Given the description of an element on the screen output the (x, y) to click on. 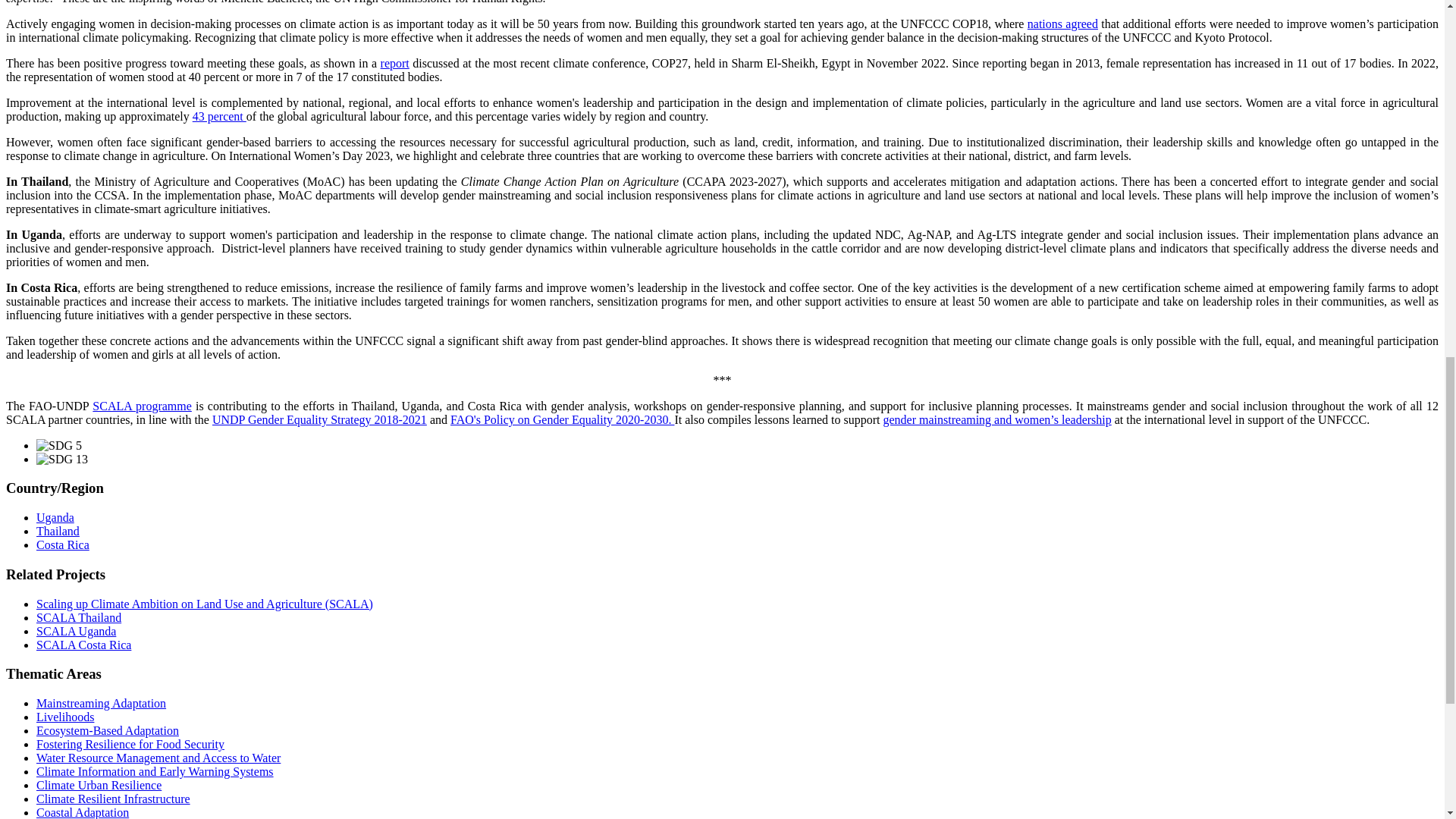
43 percent  (219, 115)
Costa Rica (62, 544)
Thailand (58, 530)
SCALA Thailand (78, 617)
UNDP Gender Equality Strategy 2018-2021 (319, 419)
nations agreed (1062, 23)
SCALA programme (142, 405)
report (394, 62)
FAO's Policy on Gender Equality 2020-2030.  (561, 419)
Uganda (55, 517)
